Given the description of an element on the screen output the (x, y) to click on. 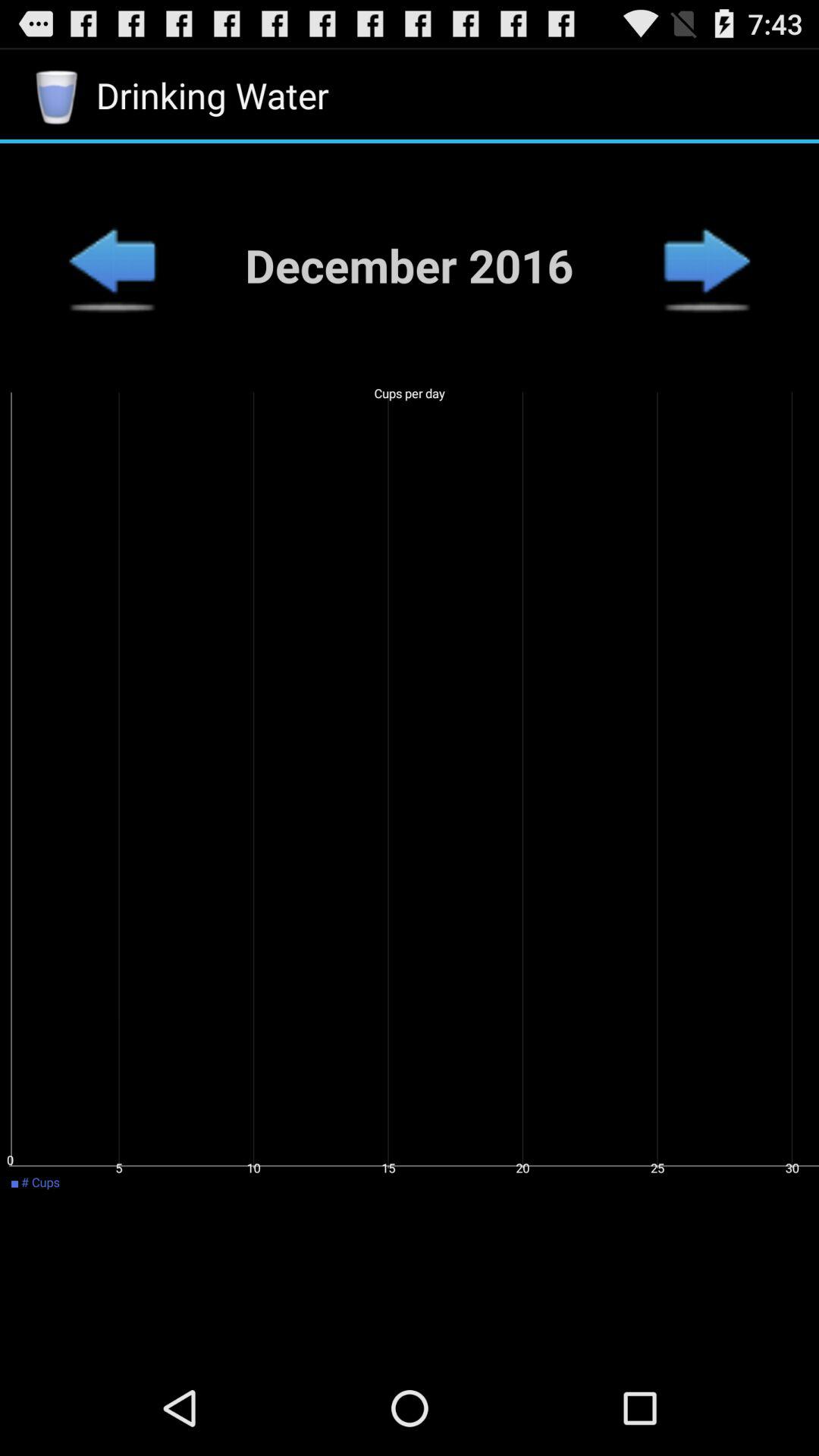
go to previous (706, 264)
